Given the description of an element on the screen output the (x, y) to click on. 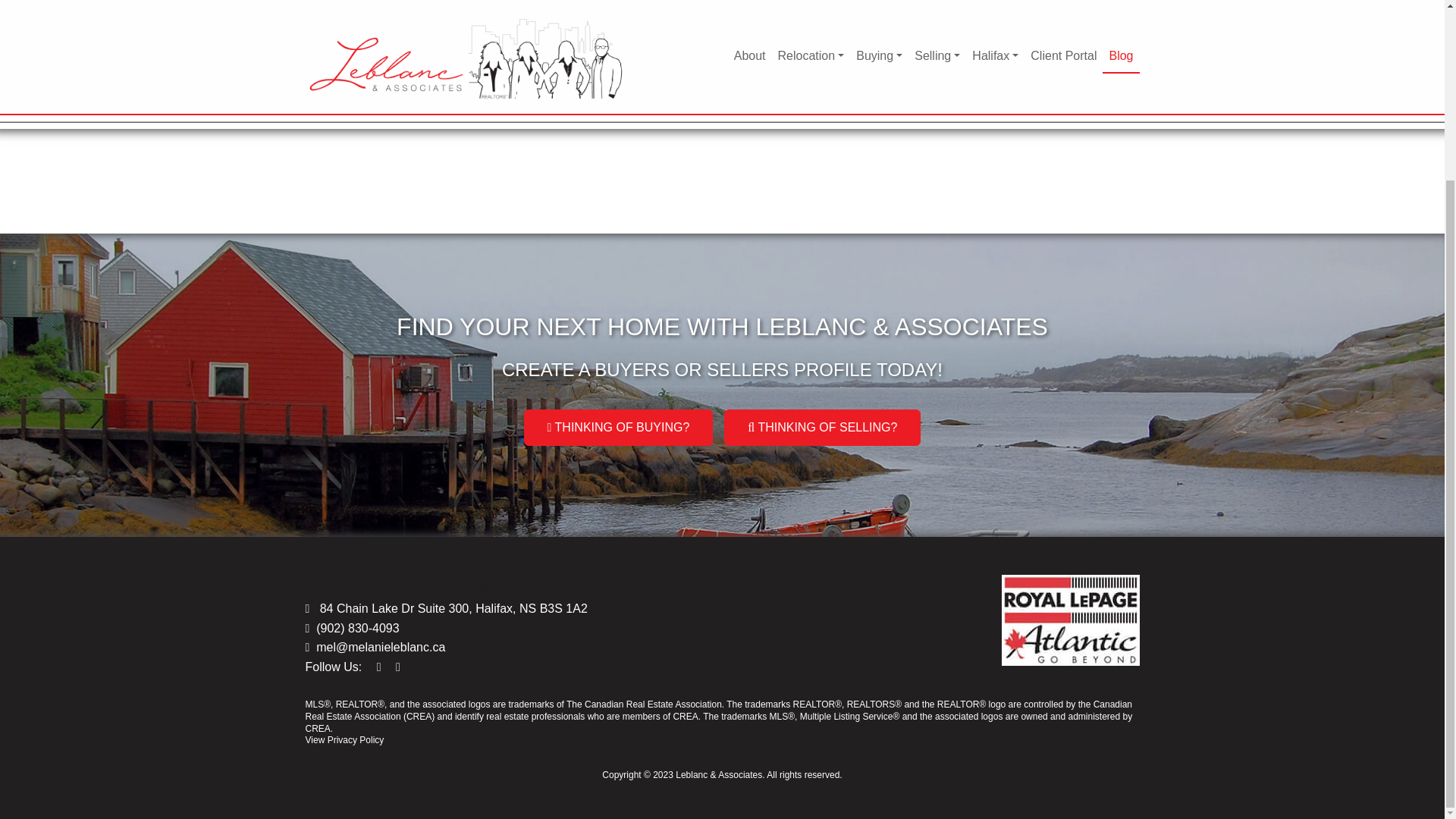
THINKING OF SELLING? (821, 427)
View Privacy Policy (344, 739)
THINKING OF BUYING? (618, 427)
